Given the description of an element on the screen output the (x, y) to click on. 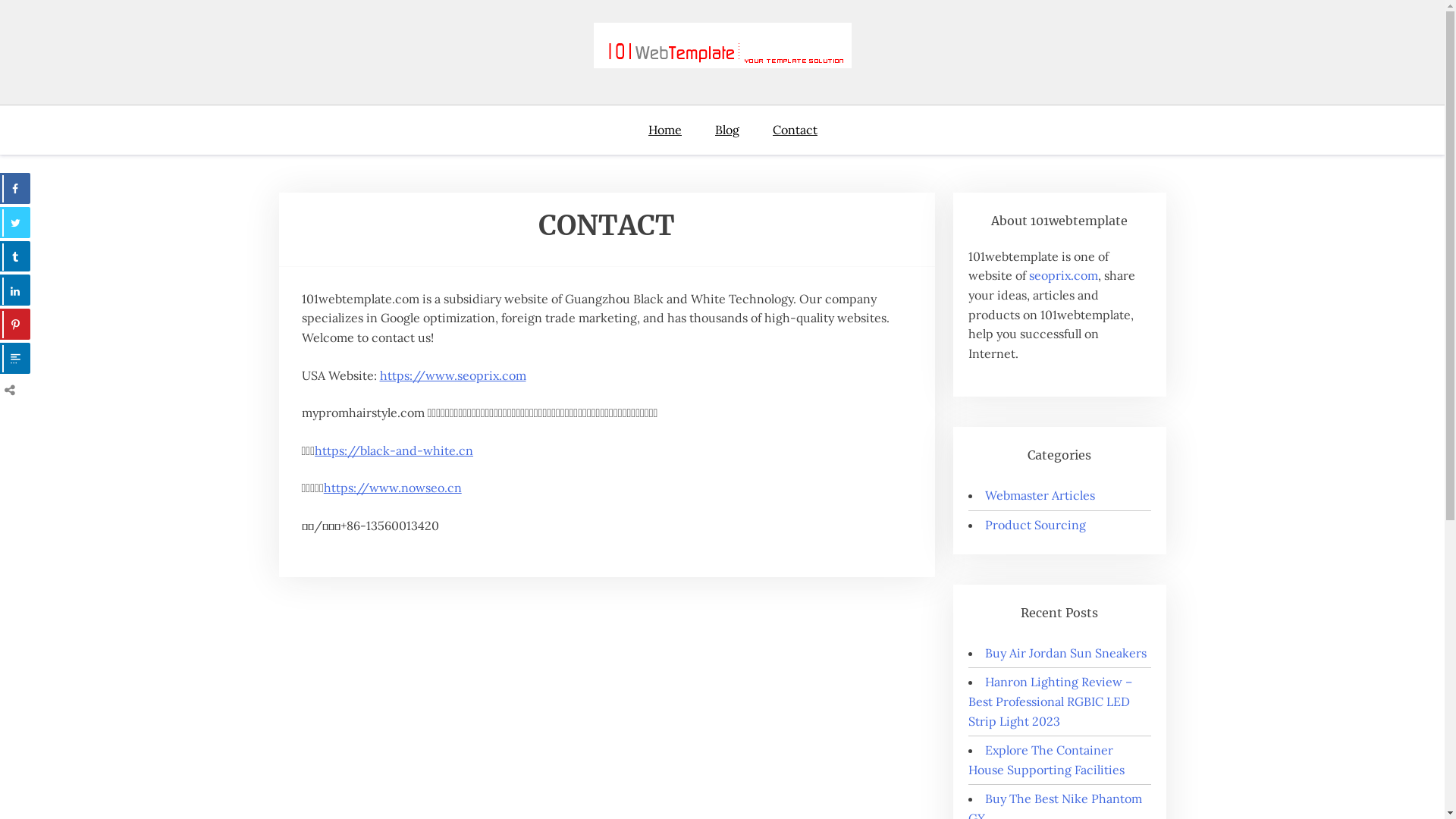
Buy Air Jordan Sun Sneakers Element type: text (1065, 652)
101webtemplate Element type: text (153, 100)
Home Element type: text (672, 130)
Blog Element type: text (726, 130)
seoprix.com Element type: text (1063, 274)
https://www.seoprix.com Element type: text (452, 374)
Product Sourcing Element type: text (1035, 524)
https://black-and-white.cn Element type: text (393, 450)
Explore The Container House Supporting Facilities Element type: text (1046, 759)
https://www.nowseo.cn Element type: text (392, 487)
Contact Element type: text (794, 130)
Webmaster Articles Element type: text (1040, 494)
